Given the description of an element on the screen output the (x, y) to click on. 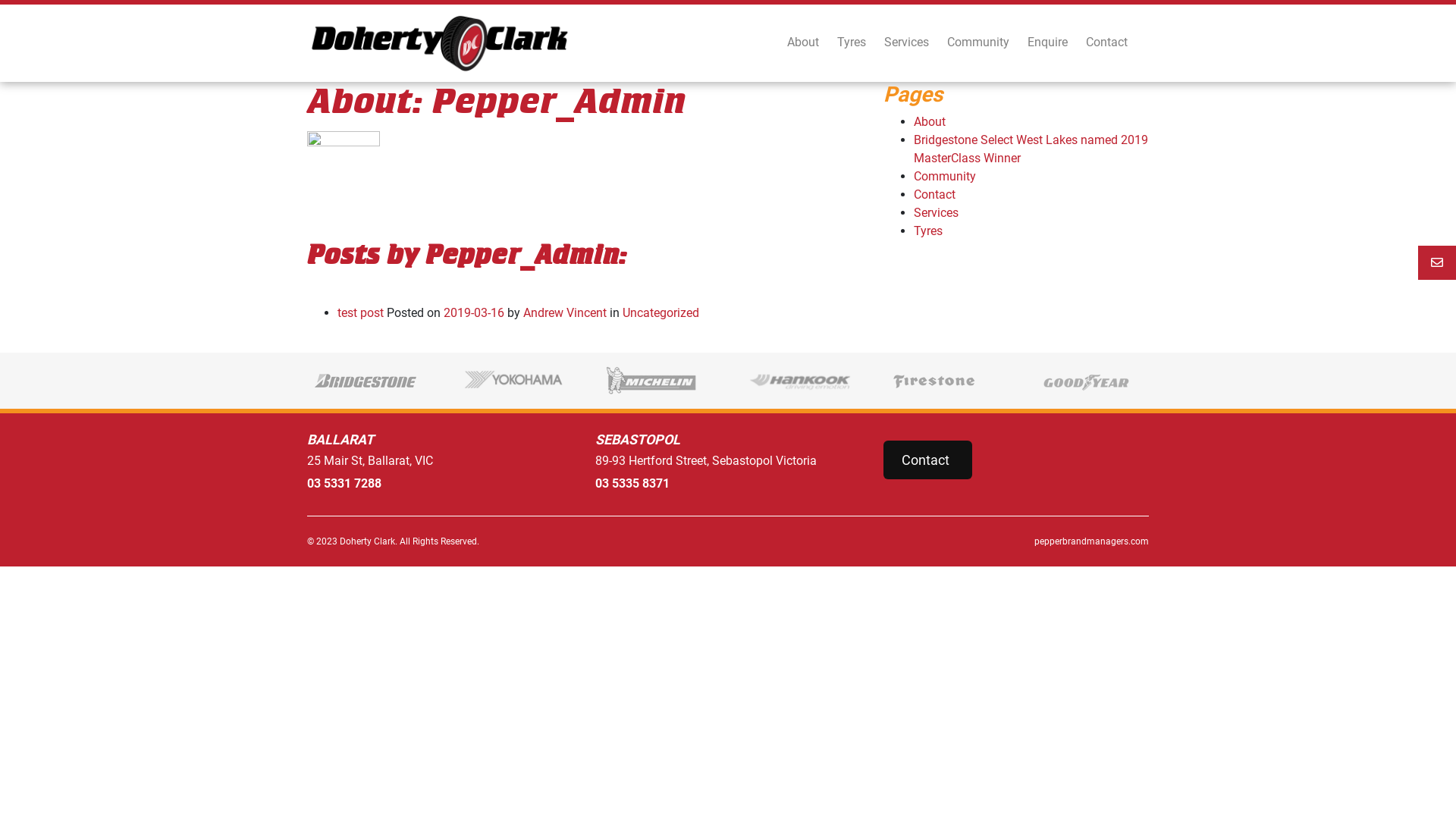
Contact Element type: text (934, 194)
2019-03-16 Element type: text (473, 312)
Enquire Element type: text (1047, 41)
About Element type: text (929, 121)
pepperbrandmanagers.com Element type: text (943, 541)
Bridgestone Select West Lakes named 2019 MasterClass Winner Element type: text (1030, 148)
test post Element type: text (360, 312)
Services Element type: text (906, 41)
Contact Element type: text (927, 459)
Community Element type: text (978, 41)
Contact Element type: text (1106, 41)
Community Element type: text (944, 176)
Uncategorized Element type: text (660, 312)
Tyres Element type: text (851, 41)
Tyres Element type: text (927, 230)
Services Element type: text (935, 212)
About Element type: text (803, 41)
Andrew Vincent Element type: text (563, 312)
